Given the description of an element on the screen output the (x, y) to click on. 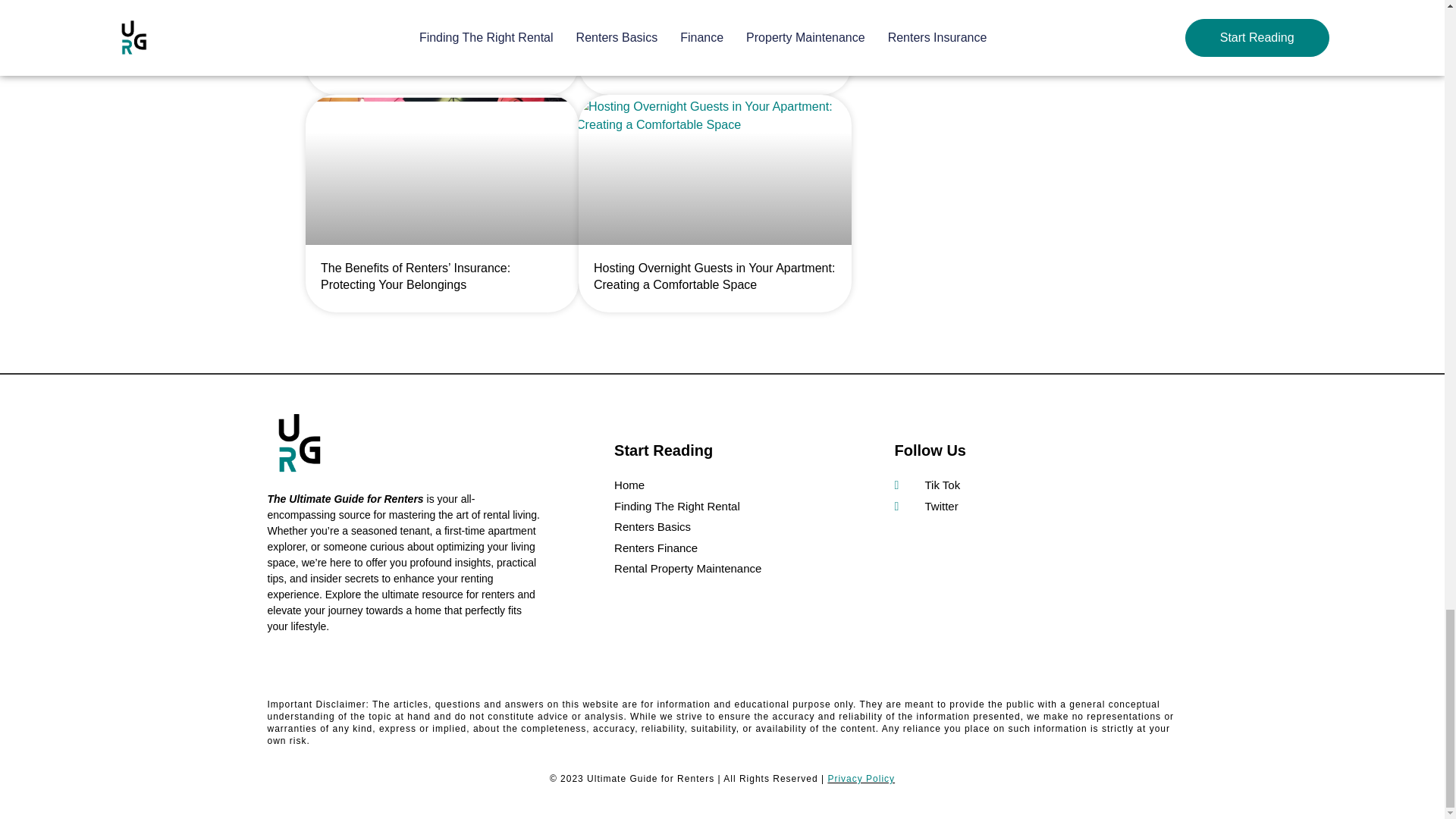
Creating a Productive Home Office in Your Apartment (433, 58)
